Given the description of an element on the screen output the (x, y) to click on. 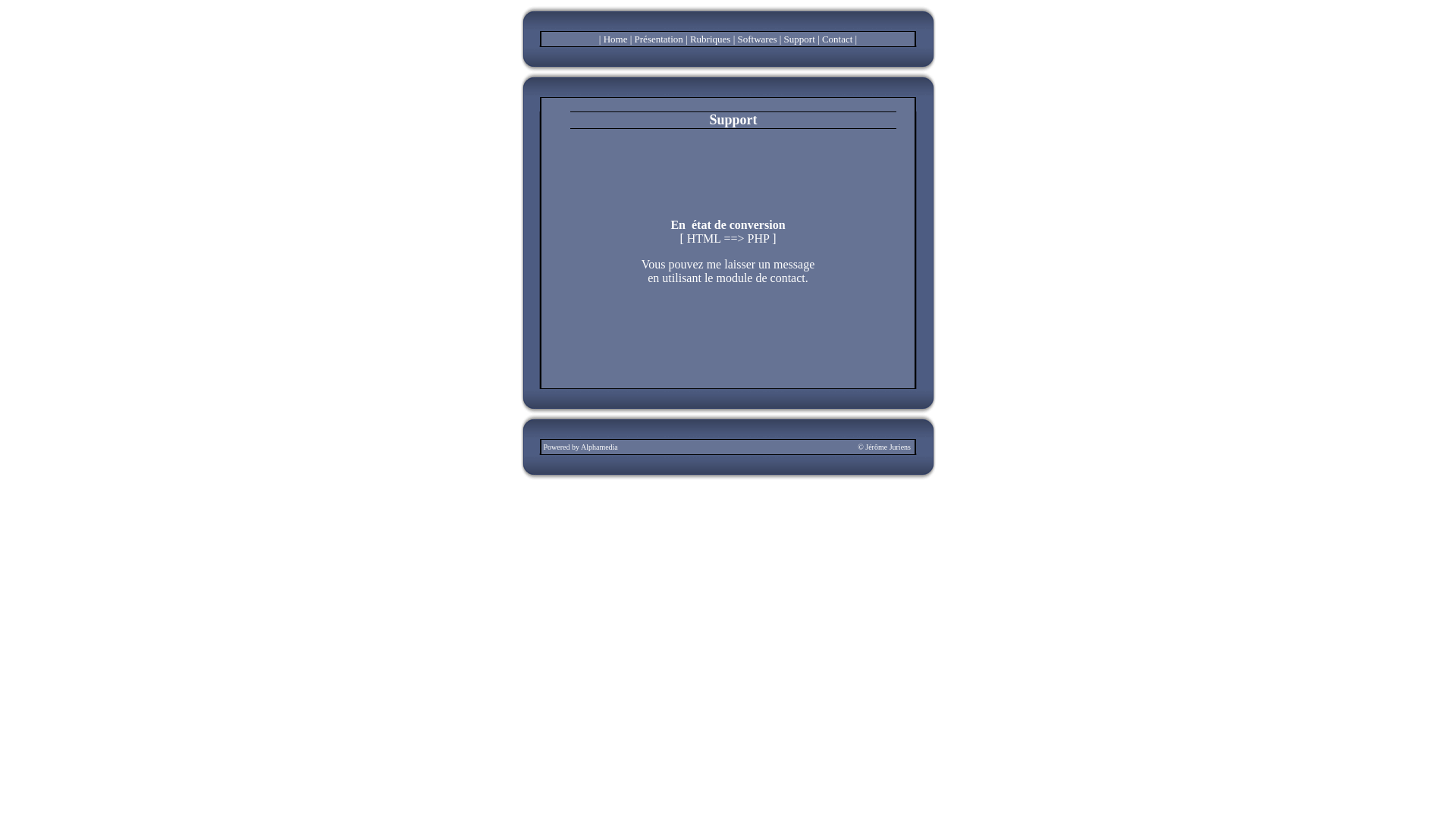
Rubriques Element type: text (710, 38)
Powered by Alphamedia Element type: text (579, 446)
Support Element type: text (799, 38)
Contact Element type: text (837, 38)
Softwares Element type: text (756, 38)
Home Element type: text (615, 38)
